Given the description of an element on the screen output the (x, y) to click on. 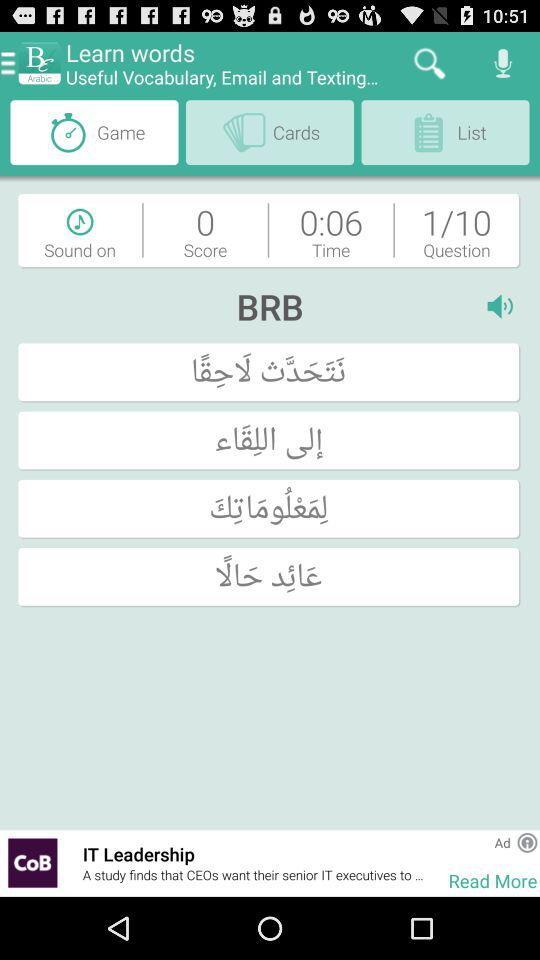
info about advertisement (527, 842)
